Given the description of an element on the screen output the (x, y) to click on. 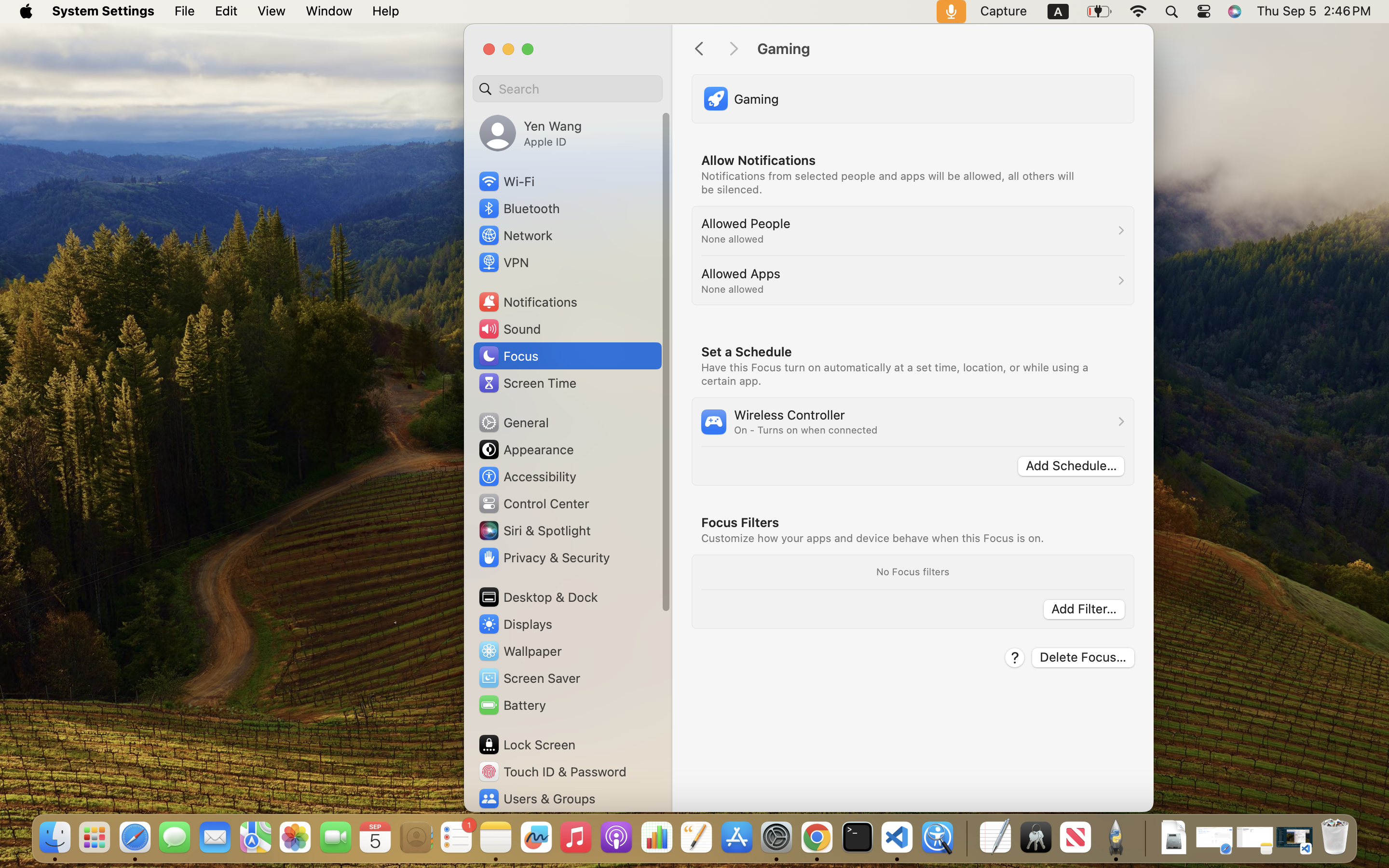
Screen Time Element type: AXStaticText (526, 382)
Gaming Element type: AXStaticText (945, 49)
Yen Wang, Apple ID Element type: AXStaticText (530, 132)
Lock Screen Element type: AXStaticText (526, 744)
Appearance Element type: AXStaticText (525, 449)
